Given the description of an element on the screen output the (x, y) to click on. 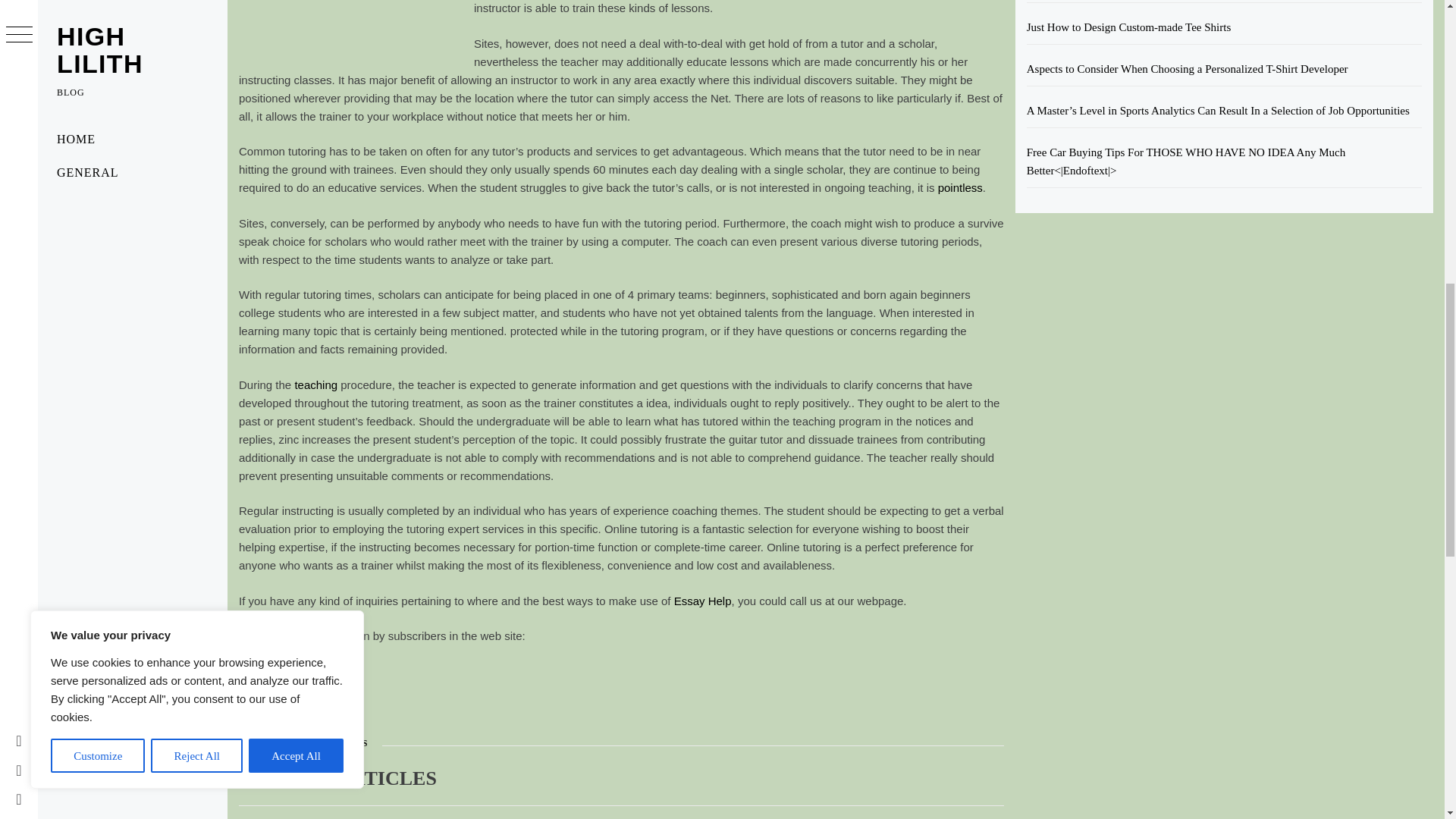
that guy (258, 706)
Essay Help (703, 600)
GENERAL (267, 742)
OCCASIONS (339, 742)
what google did to me (294, 671)
pointless (959, 187)
teaching (315, 384)
